Given the description of an element on the screen output the (x, y) to click on. 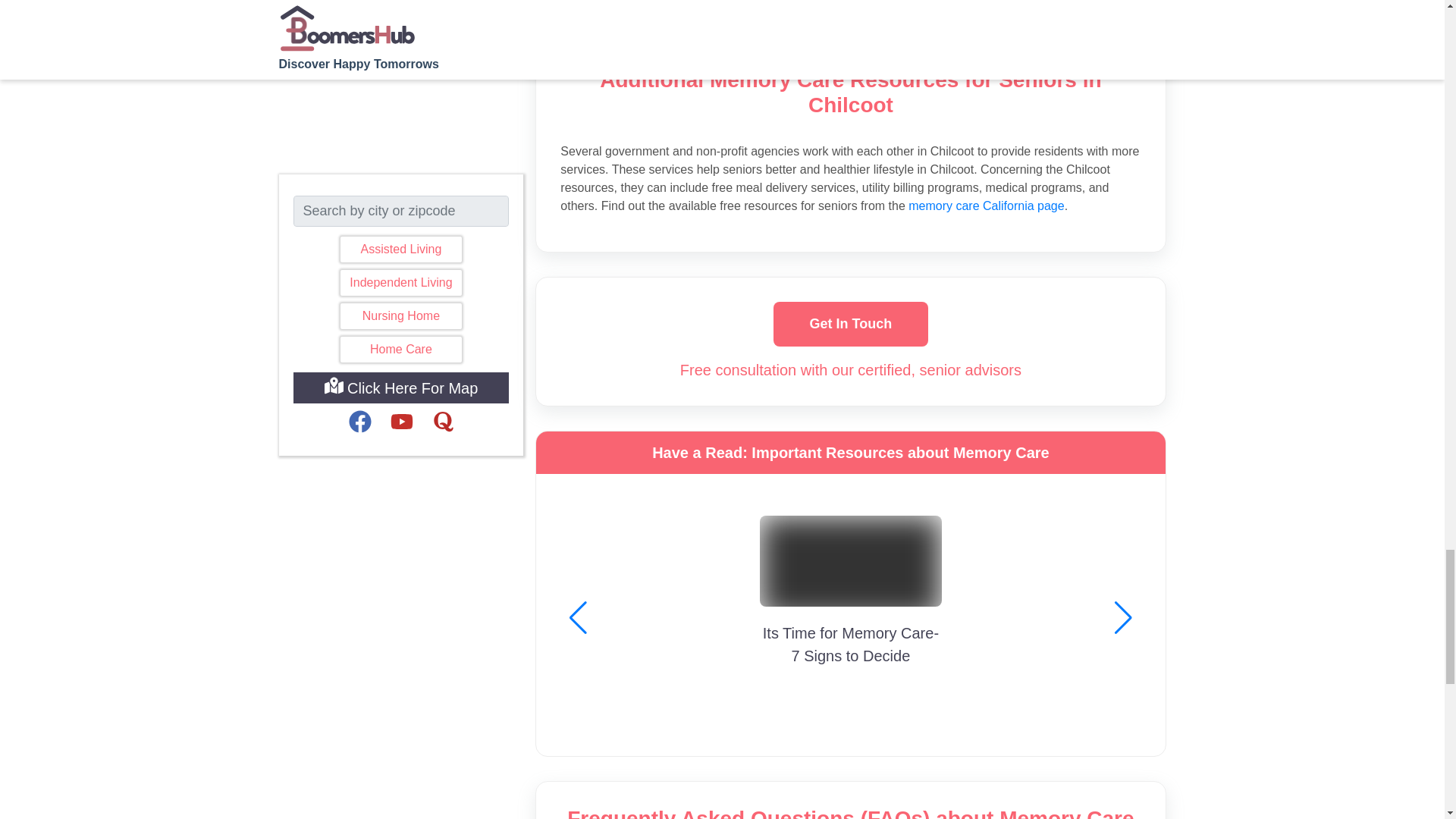
Its Time for Memory Care- 7 Signs to Decide (851, 567)
